Given the description of an element on the screen output the (x, y) to click on. 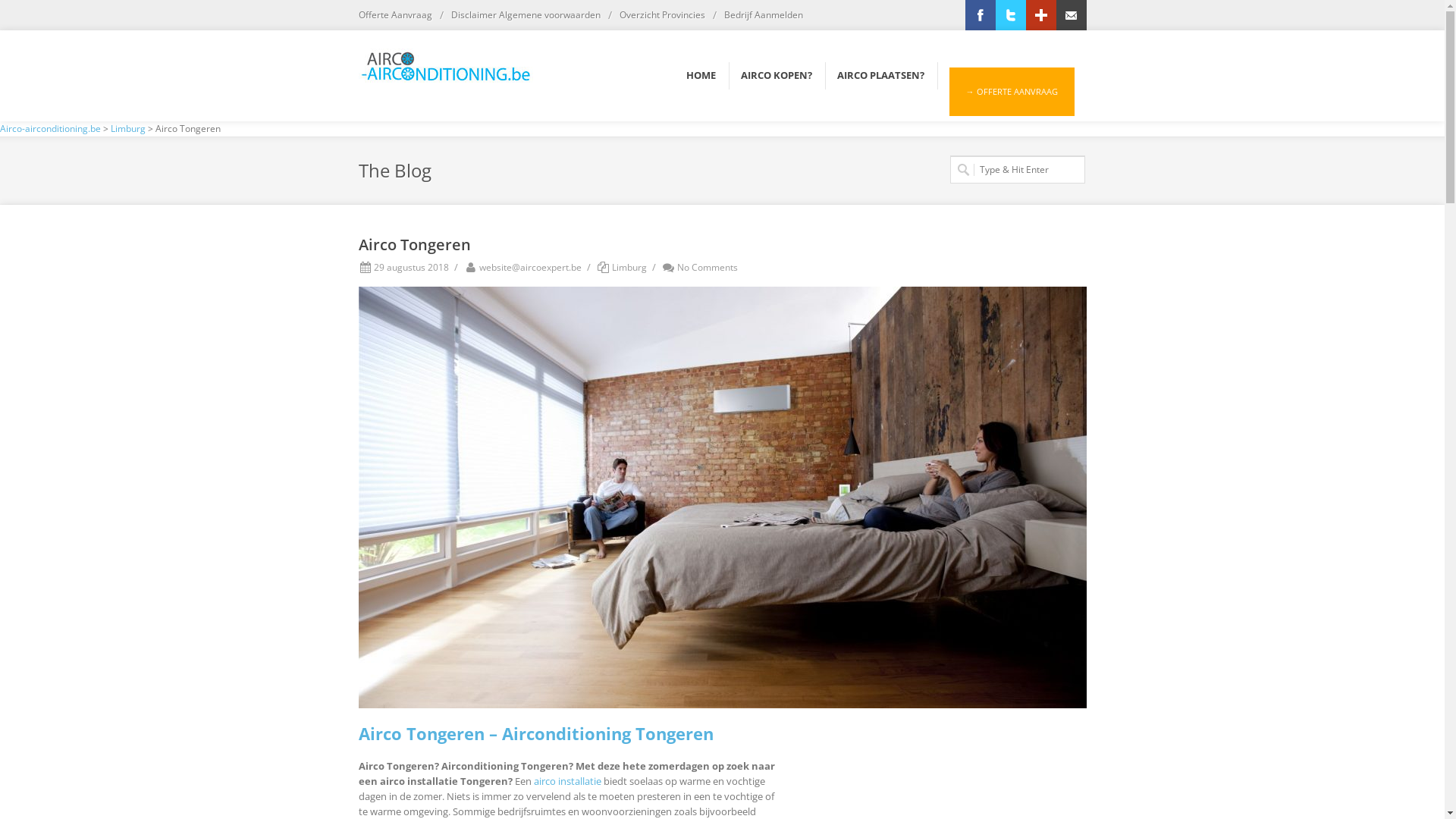
Disclaimer Algemene voorwaarden Element type: text (524, 14)
AIRCO KOPEN? Element type: text (775, 70)
Limburg Element type: text (127, 128)
HOME Element type: text (700, 70)
airco installatie Element type: text (567, 780)
Offerte Aanvraag Element type: text (394, 14)
Overzicht Provincies Element type: text (661, 14)
Limburg Element type: text (628, 266)
AIRCO PLAATSEN? Element type: text (880, 70)
Airco-airconditioning.be Element type: text (50, 128)
Airco Tongeren Element type: hover (721, 497)
No Comments Element type: text (699, 266)
Bedrijf Aanmelden Element type: text (762, 14)
website@aircoexpert.be Element type: text (522, 266)
Airco-airconditioning.be Element type: hover (444, 56)
